Given the description of an element on the screen output the (x, y) to click on. 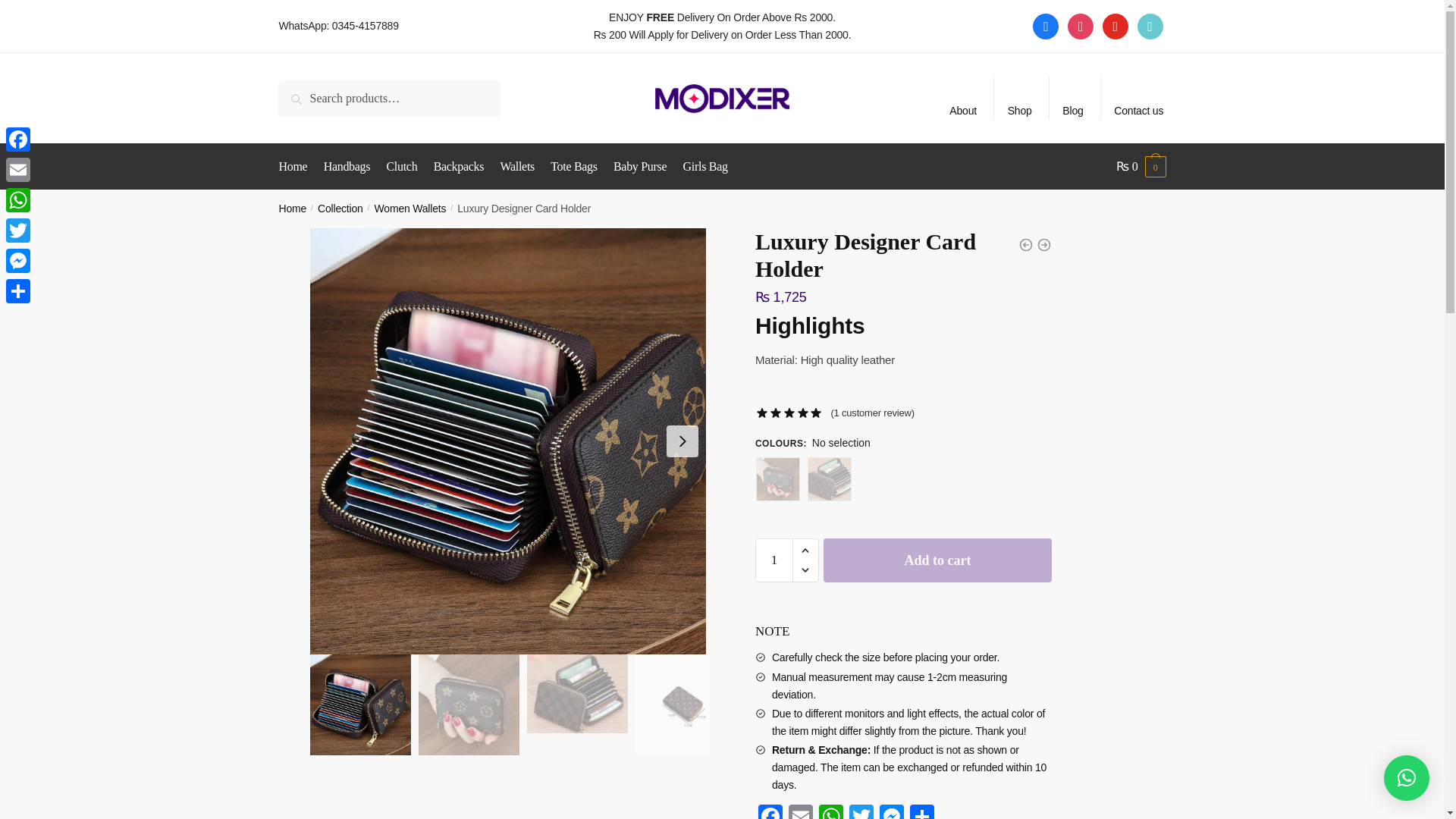
Contact us (1138, 97)
Women Wallets (410, 208)
Search (314, 98)
Clutch (401, 166)
Card Holder Wallet Imported (469, 704)
Shop (1019, 97)
View your shopping cart (1141, 166)
Collection (339, 208)
Girls Bag (705, 166)
Backpacks (459, 166)
Luxury Designer Card Holder (360, 704)
Blog (1072, 97)
Tote Bags (574, 166)
Handbags (347, 166)
About (962, 97)
